Given the description of an element on the screen output the (x, y) to click on. 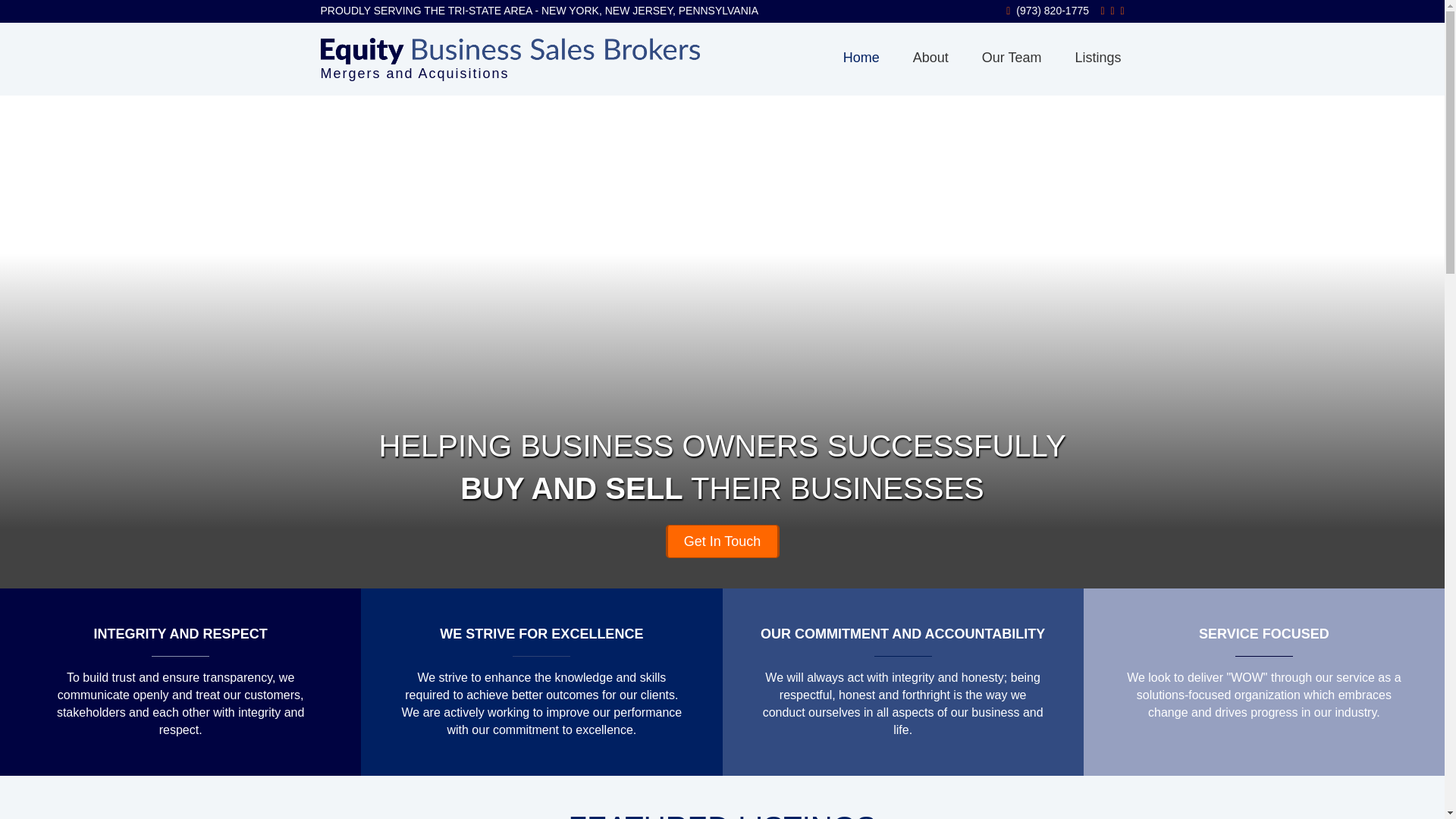
ebsb-logo (509, 51)
About (930, 57)
Listings (1097, 57)
Get In Touch (721, 540)
Home (860, 57)
Our Team (1011, 57)
